Given the description of an element on the screen output the (x, y) to click on. 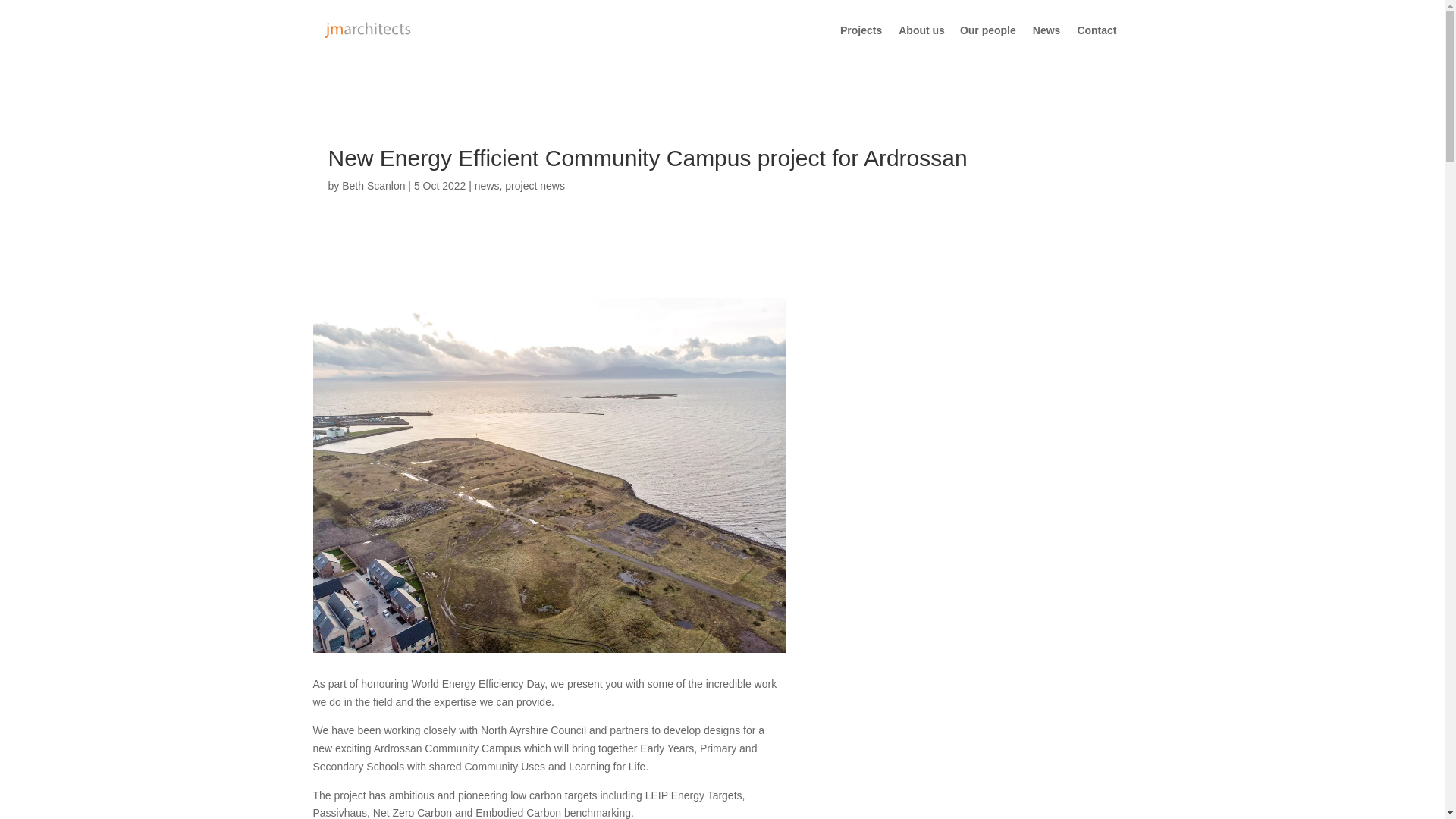
Contact (1104, 42)
Projects (861, 42)
About jm architects (928, 42)
news (486, 185)
About us (928, 42)
Our people (987, 42)
Beth Scanlon (373, 185)
project news (534, 185)
Posts by Beth Scanlon (373, 185)
